Given the description of an element on the screen output the (x, y) to click on. 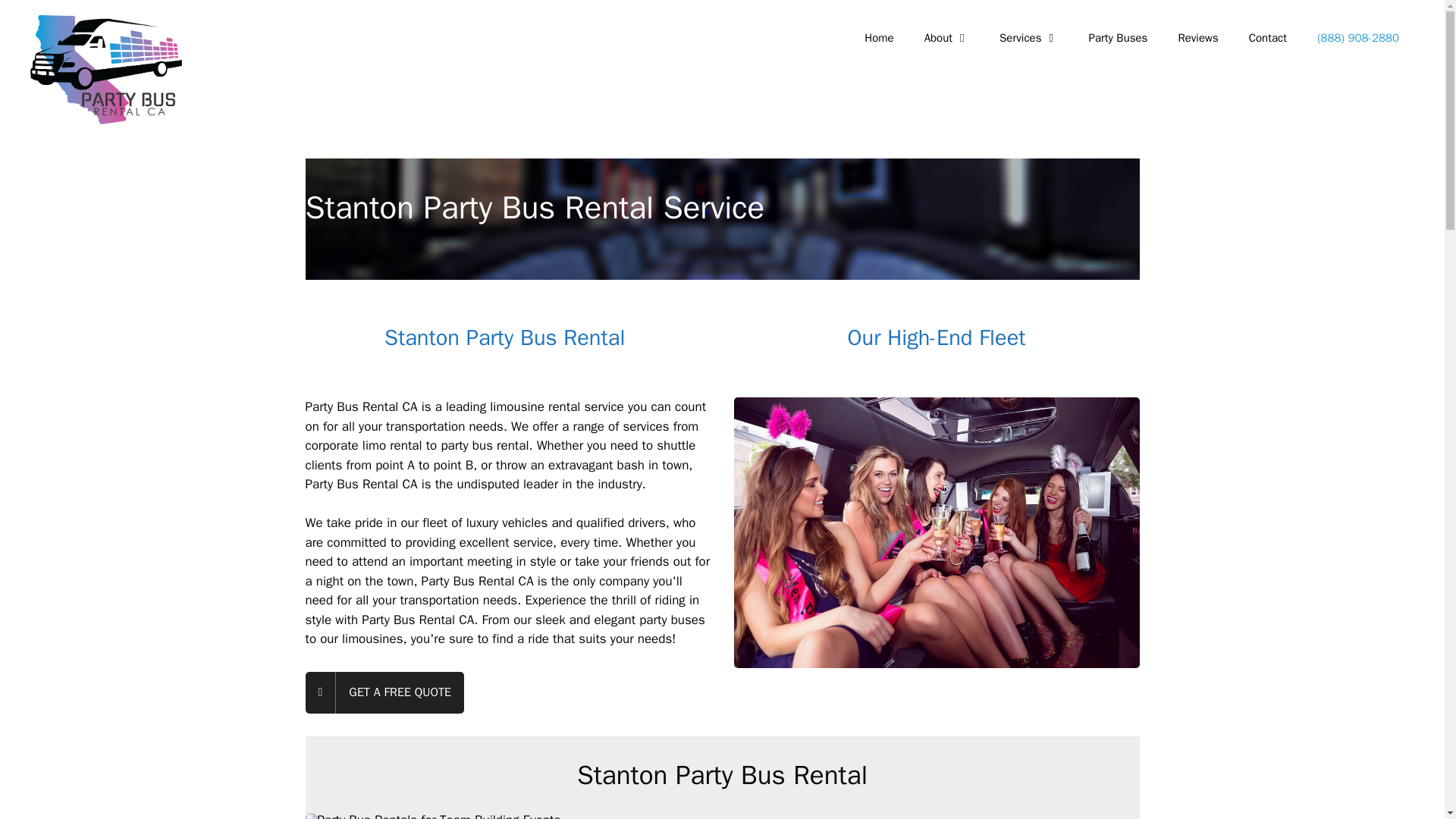
Contact (1267, 37)
Our High-End Fleet (936, 337)
Reviews (1197, 37)
Services (1028, 37)
Stanton Party Bus Rental  (507, 337)
Party Buses (1118, 37)
Home (878, 37)
Bachelorette Party Bus Service (936, 532)
About (946, 37)
GET A FREE QUOTE (383, 692)
Party Bus Rentals for Team Building Events (507, 816)
